Given the description of an element on the screen output the (x, y) to click on. 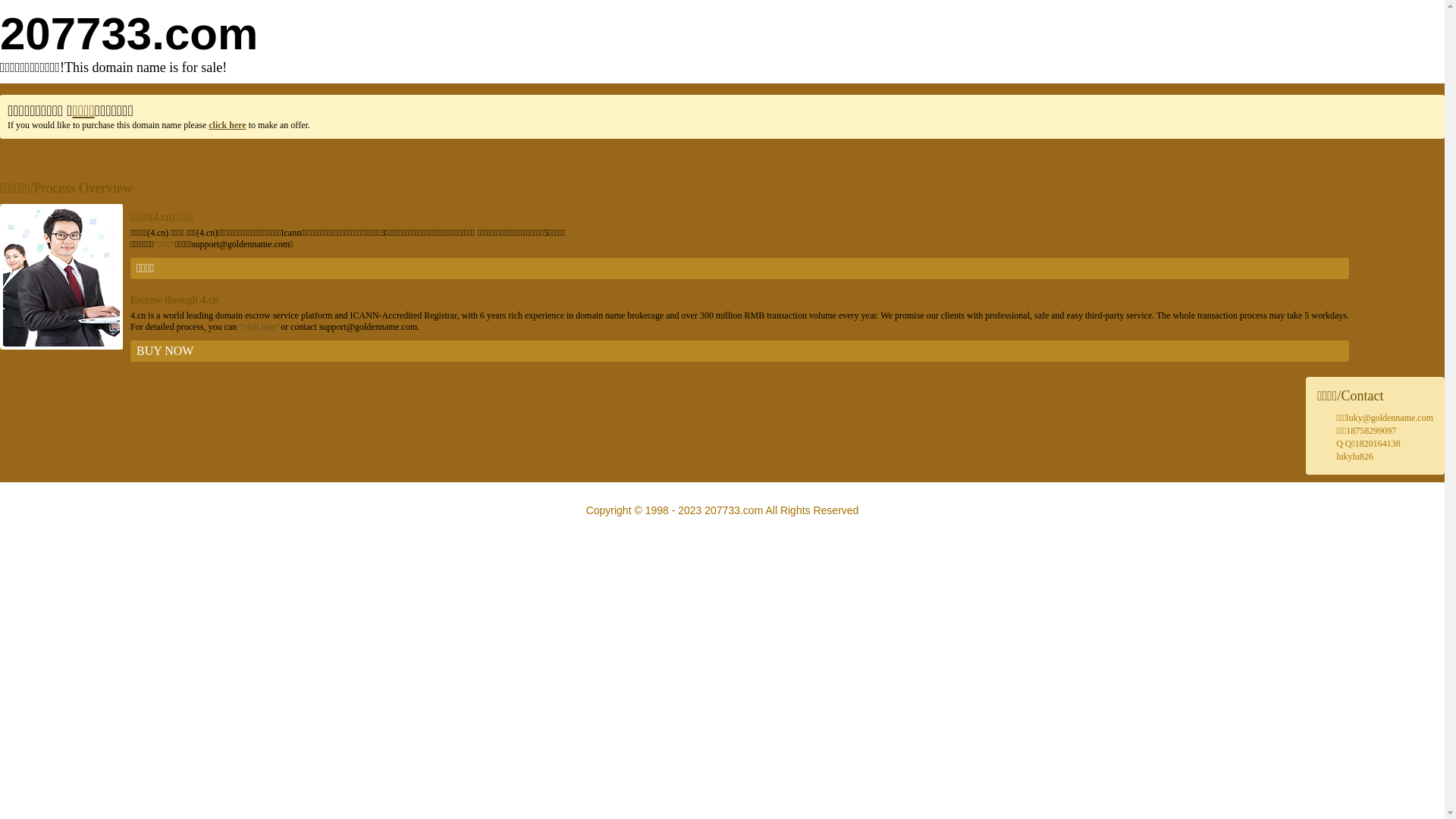
click here Element type: text (226, 124)
BUY NOW Element type: text (739, 350)
